Given the description of an element on the screen output the (x, y) to click on. 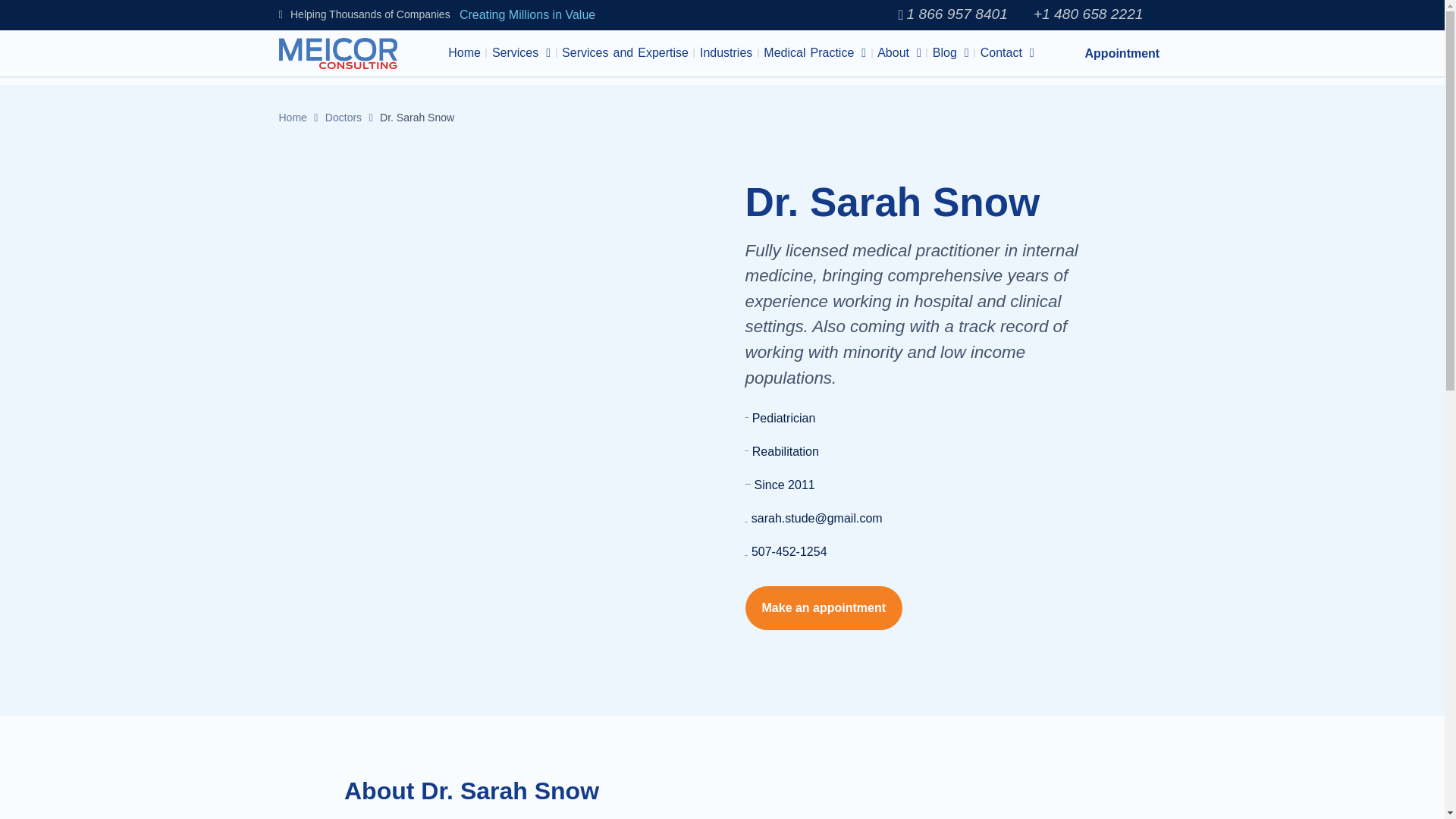
Services (521, 53)
Doctors (342, 117)
About (899, 53)
Services and Expertise (624, 53)
Home (464, 53)
Industries (725, 53)
Home (293, 117)
Medical Practice (814, 53)
Blog (950, 53)
1 866 957 8401 (952, 14)
